Given the description of an element on the screen output the (x, y) to click on. 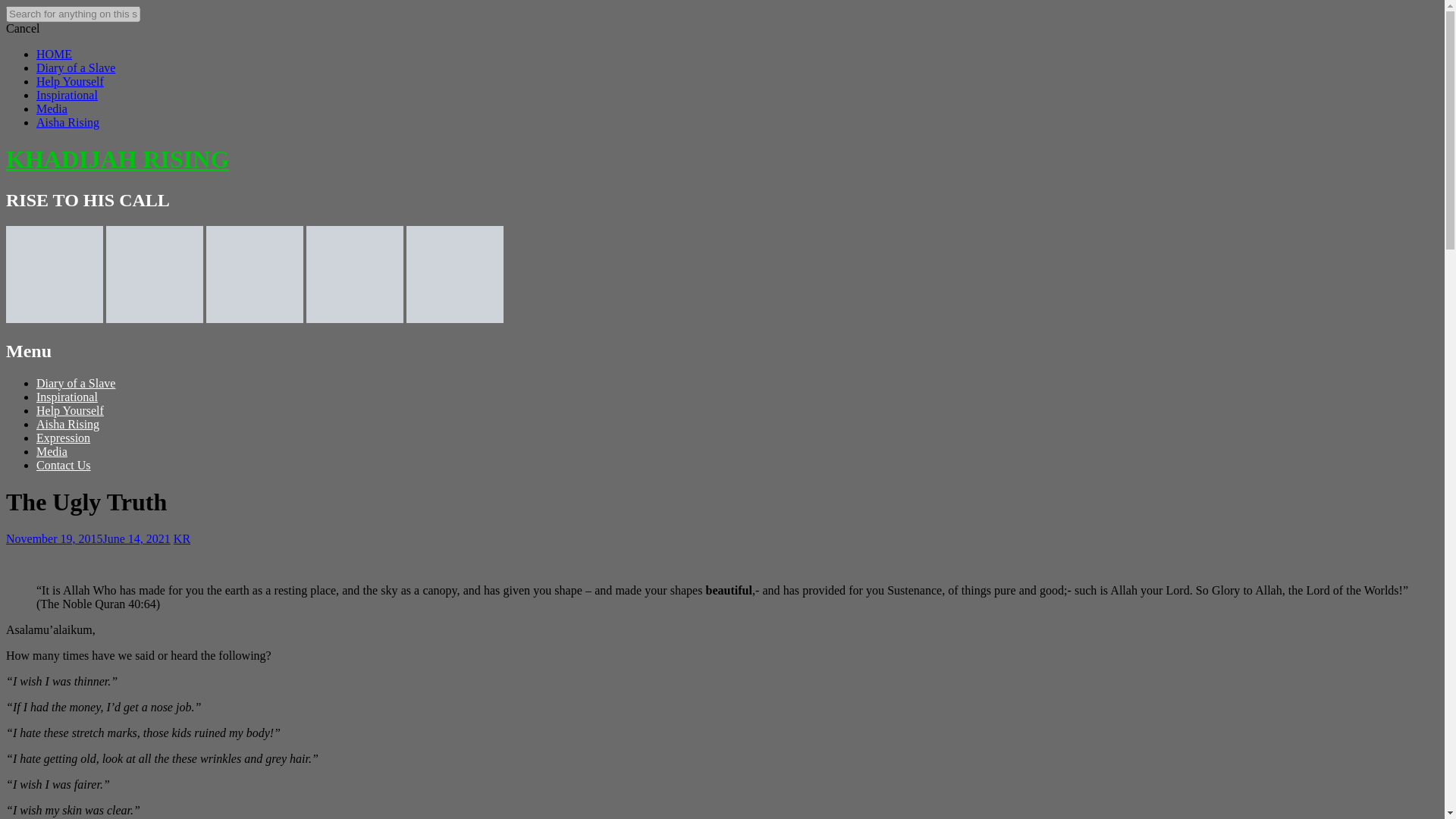
KR (181, 538)
Diary of a Slave (75, 382)
Facebook (54, 318)
Inspirational (66, 94)
Skip to content (22, 395)
Google Plus (254, 318)
YouTube (454, 318)
HOME (53, 53)
Inspirational (66, 396)
Aisha Rising (67, 423)
Contact Us (63, 464)
Diary of a Slave (75, 67)
Linked In (354, 318)
Media (51, 108)
Aisha Rising (67, 122)
